Given the description of an element on the screen output the (x, y) to click on. 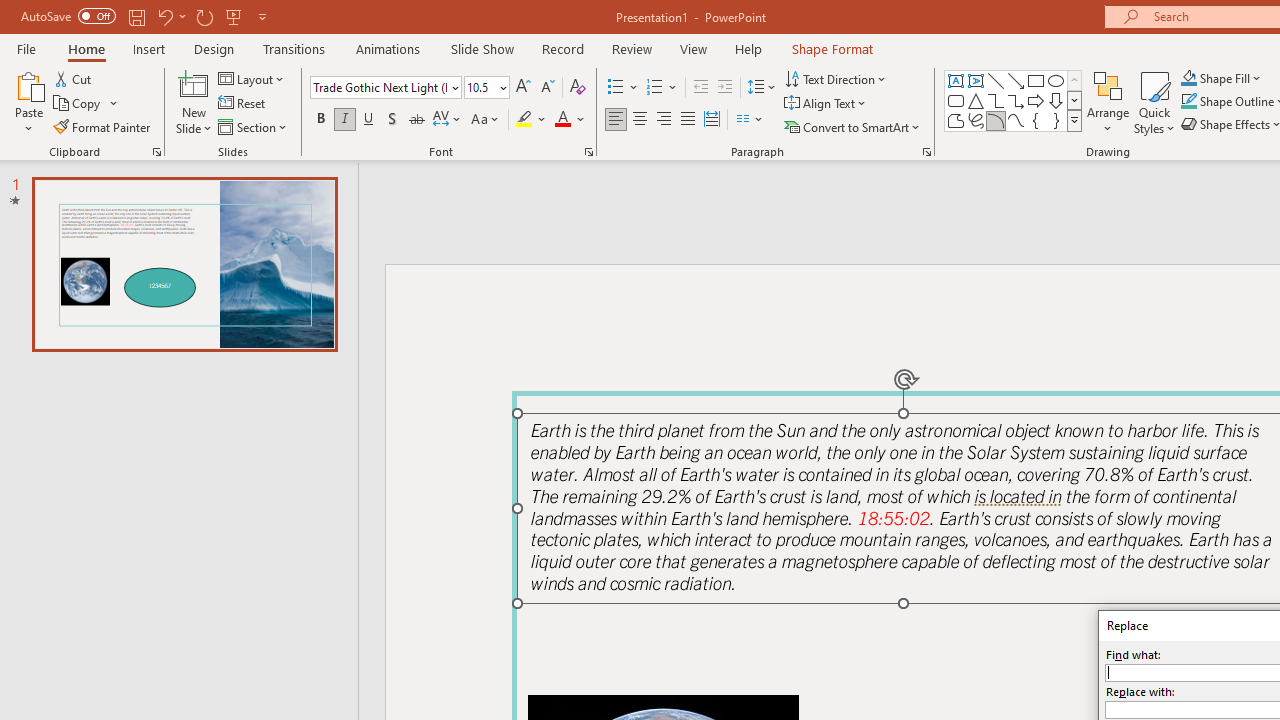
Arrow: Down (1055, 100)
Clear Formatting (577, 87)
Text Direction (836, 78)
Text Box (955, 80)
Text Highlight Color Yellow (524, 119)
Layout (252, 78)
Decrease Font Size (547, 87)
Bold (320, 119)
